Given the description of an element on the screen output the (x, y) to click on. 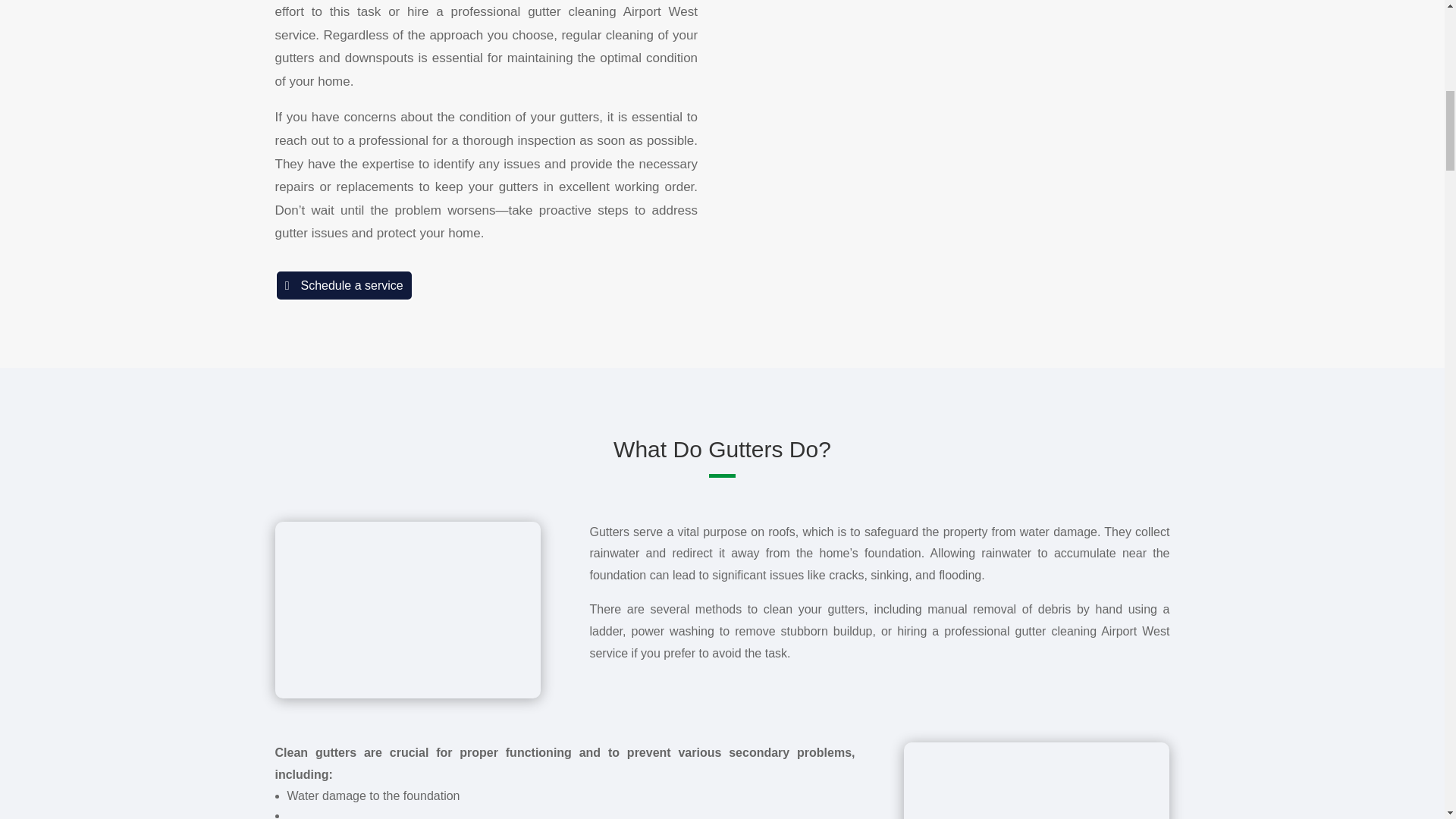
Schedule a service (343, 285)
gutter clean (1036, 780)
Gutter-Cleaning-Services-Melbourne-img1 (407, 609)
